Given the description of an element on the screen output the (x, y) to click on. 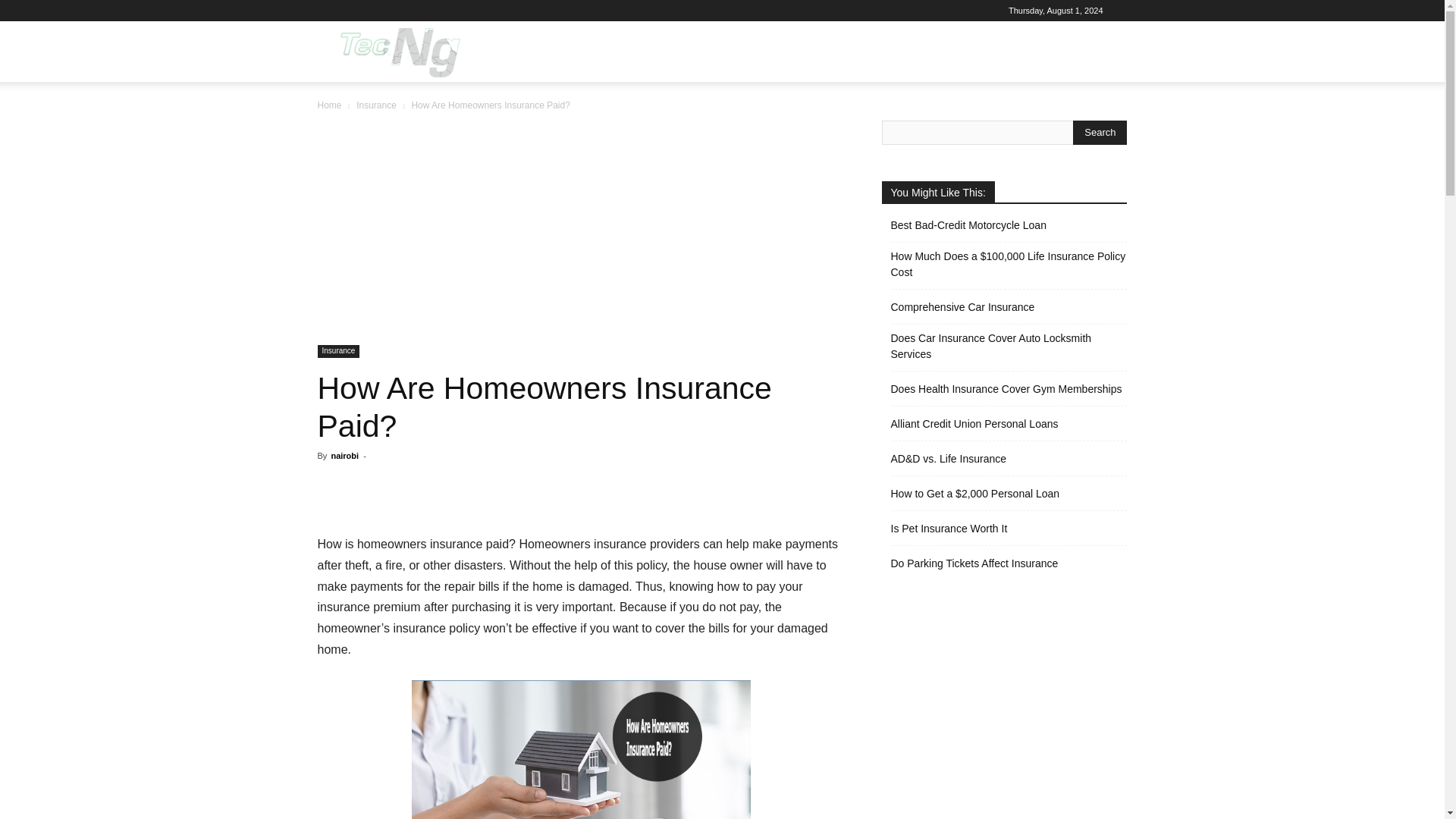
View all posts in Insurance (376, 104)
SCHOLARSHIP (978, 51)
TecNg (398, 51)
nairobi (344, 455)
Insurance (376, 104)
REVIEWS (809, 51)
Search (1099, 132)
Insurance (338, 350)
Home (328, 104)
Search (1085, 124)
INSURANCE (887, 51)
LOANS (695, 51)
